Given the description of an element on the screen output the (x, y) to click on. 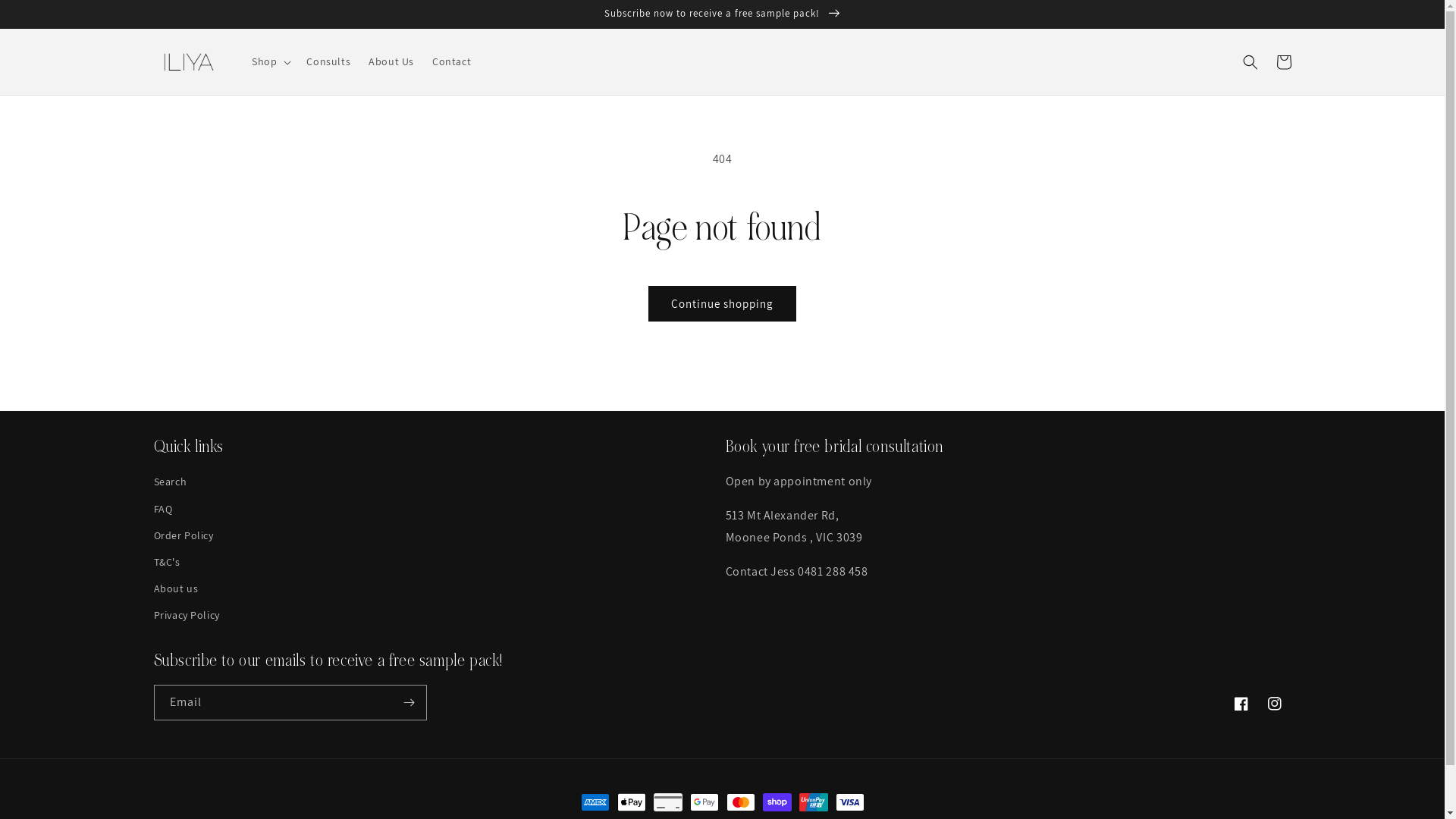
Cart Element type: text (1282, 61)
Consults Element type: text (328, 61)
FAQ Element type: text (162, 508)
Privacy Policy Element type: text (186, 615)
Contact Element type: text (451, 61)
About Us Element type: text (391, 61)
Order Policy Element type: text (183, 535)
T&C's Element type: text (166, 562)
Subscribe now to receive a free sample pack! Element type: text (722, 14)
Facebook Element type: text (1240, 703)
About us Element type: text (175, 588)
Search Element type: text (169, 483)
Instagram Element type: text (1273, 703)
Continue shopping Element type: text (722, 303)
